Given the description of an element on the screen output the (x, y) to click on. 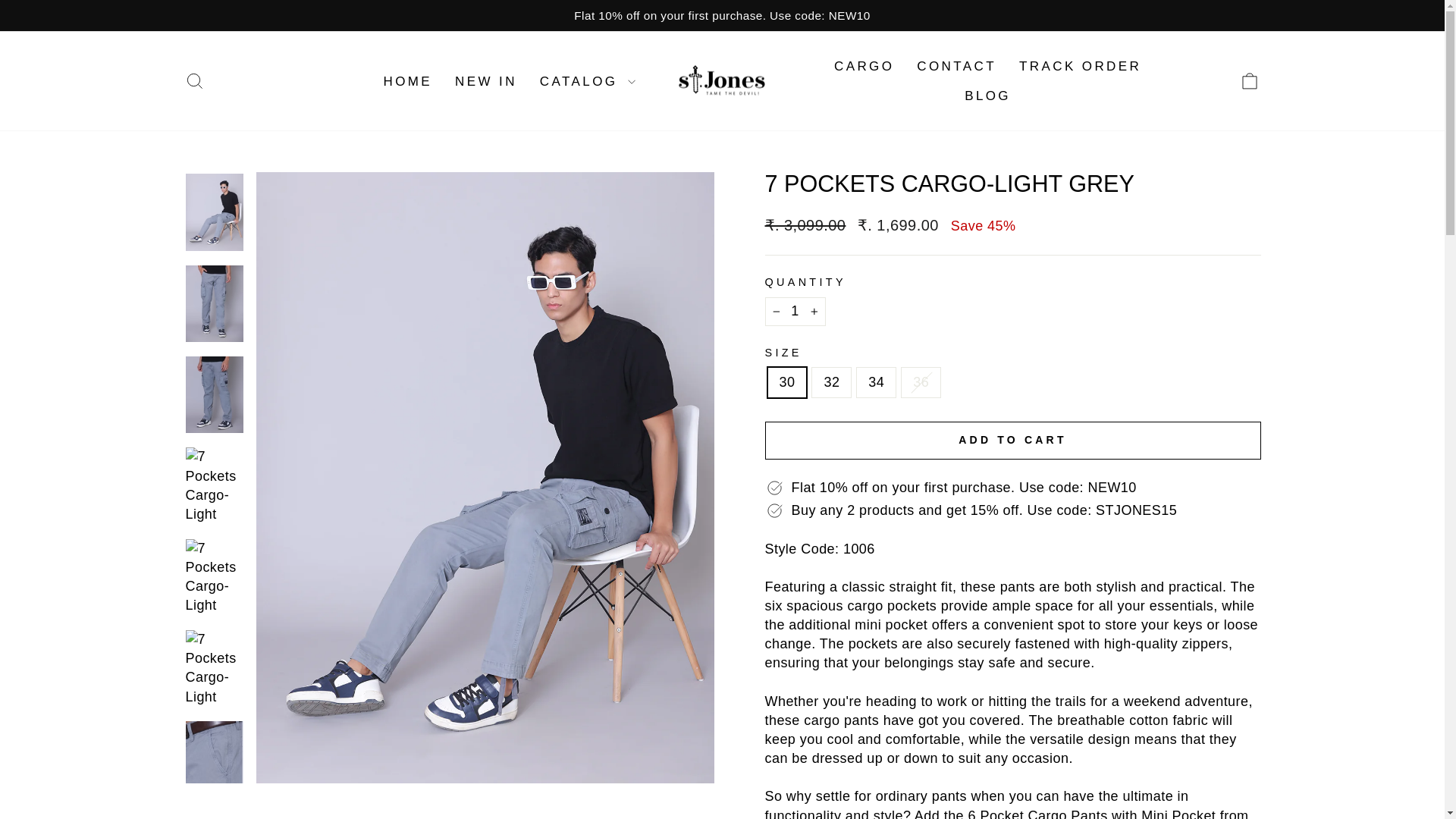
1 (194, 81)
ICON-SEARCH (794, 311)
ICON-BAG-MINIMAL (194, 80)
32 (1249, 80)
